Given the description of an element on the screen output the (x, y) to click on. 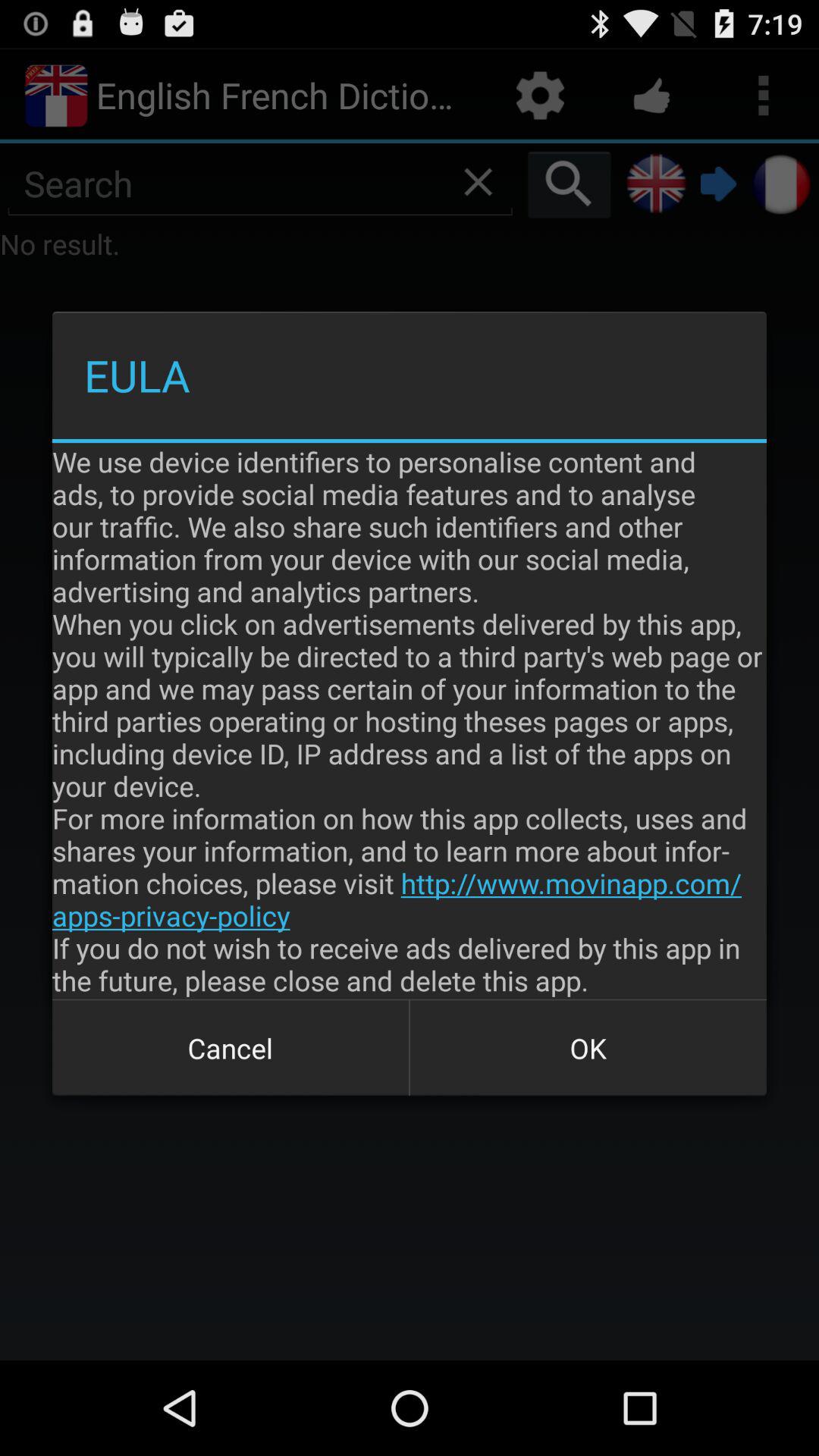
launch the we use device item (409, 721)
